Given the description of an element on the screen output the (x, y) to click on. 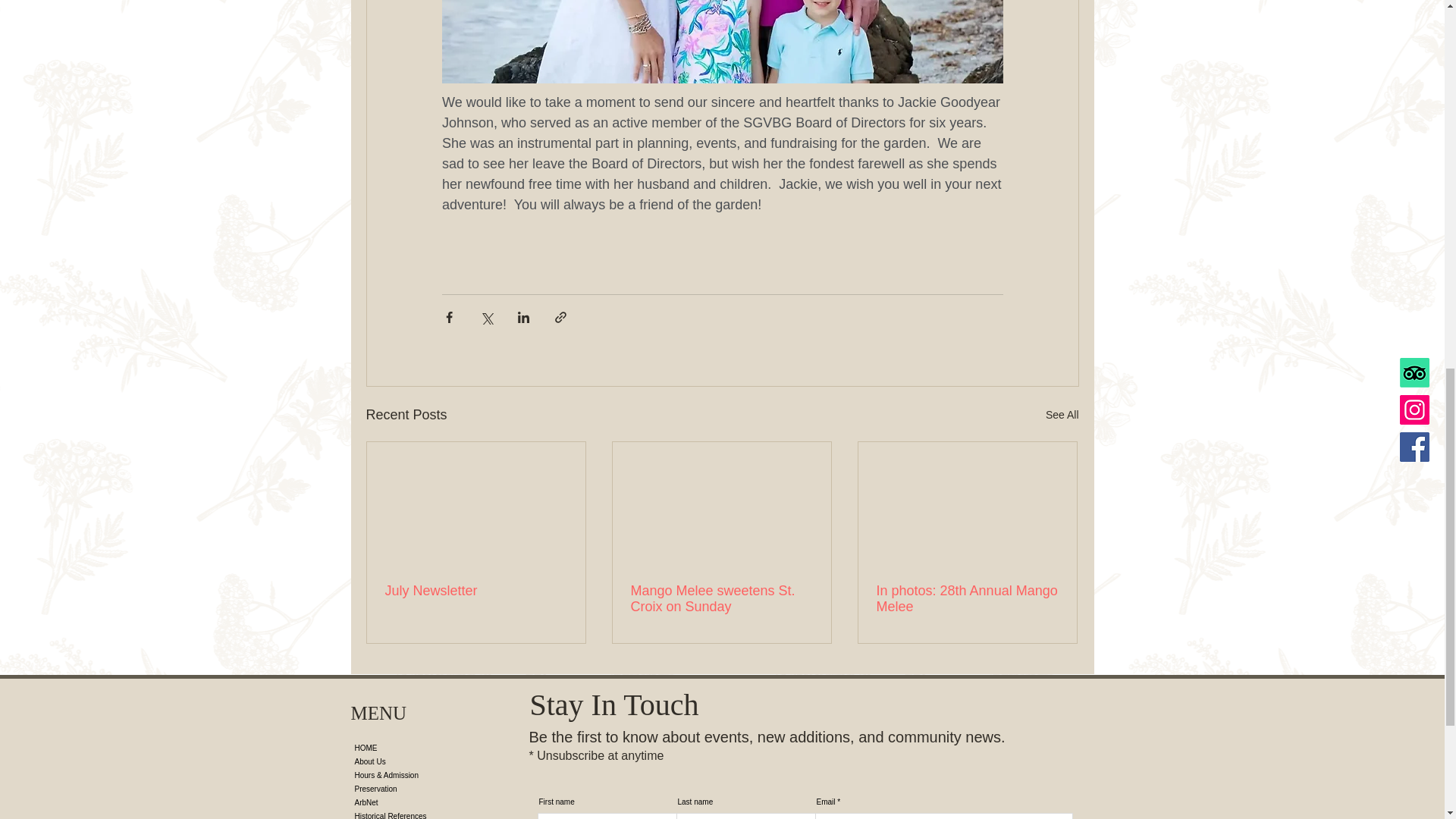
See All (1061, 414)
ArbNet (412, 802)
Mango Melee sweetens St. Croix on Sunday (721, 599)
HOME (412, 748)
Preservation (412, 789)
About Us (412, 762)
Historical References (412, 814)
July Newsletter (476, 590)
In photos: 28th Annual Mango Melee (967, 599)
